Given the description of an element on the screen output the (x, y) to click on. 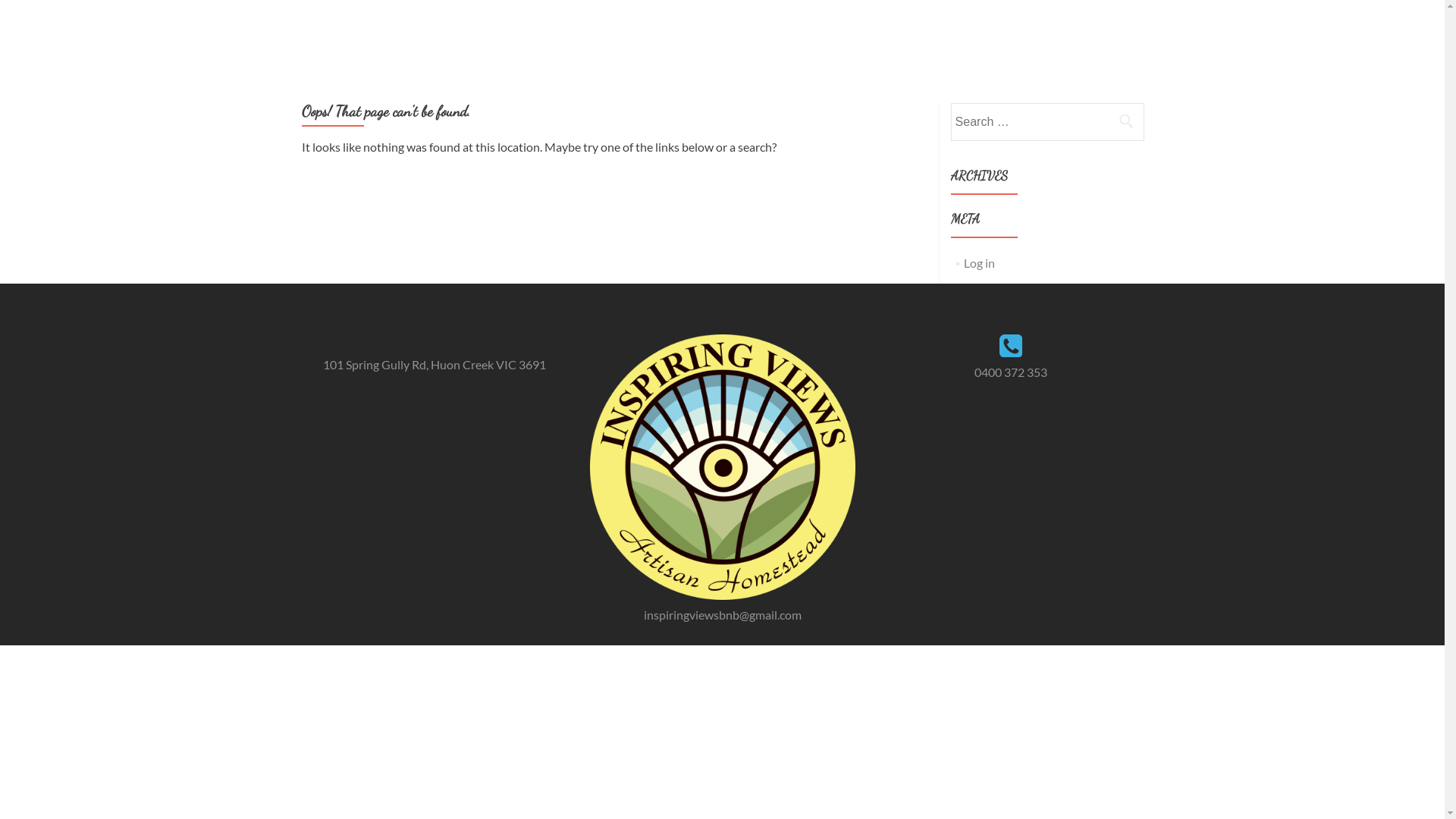
Search Element type: text (1125, 120)
Log in Element type: text (978, 262)
inspiringviewsbnb@gmail.com Element type: text (721, 614)
0400 372 353 Element type: text (1009, 371)
